Given the description of an element on the screen output the (x, y) to click on. 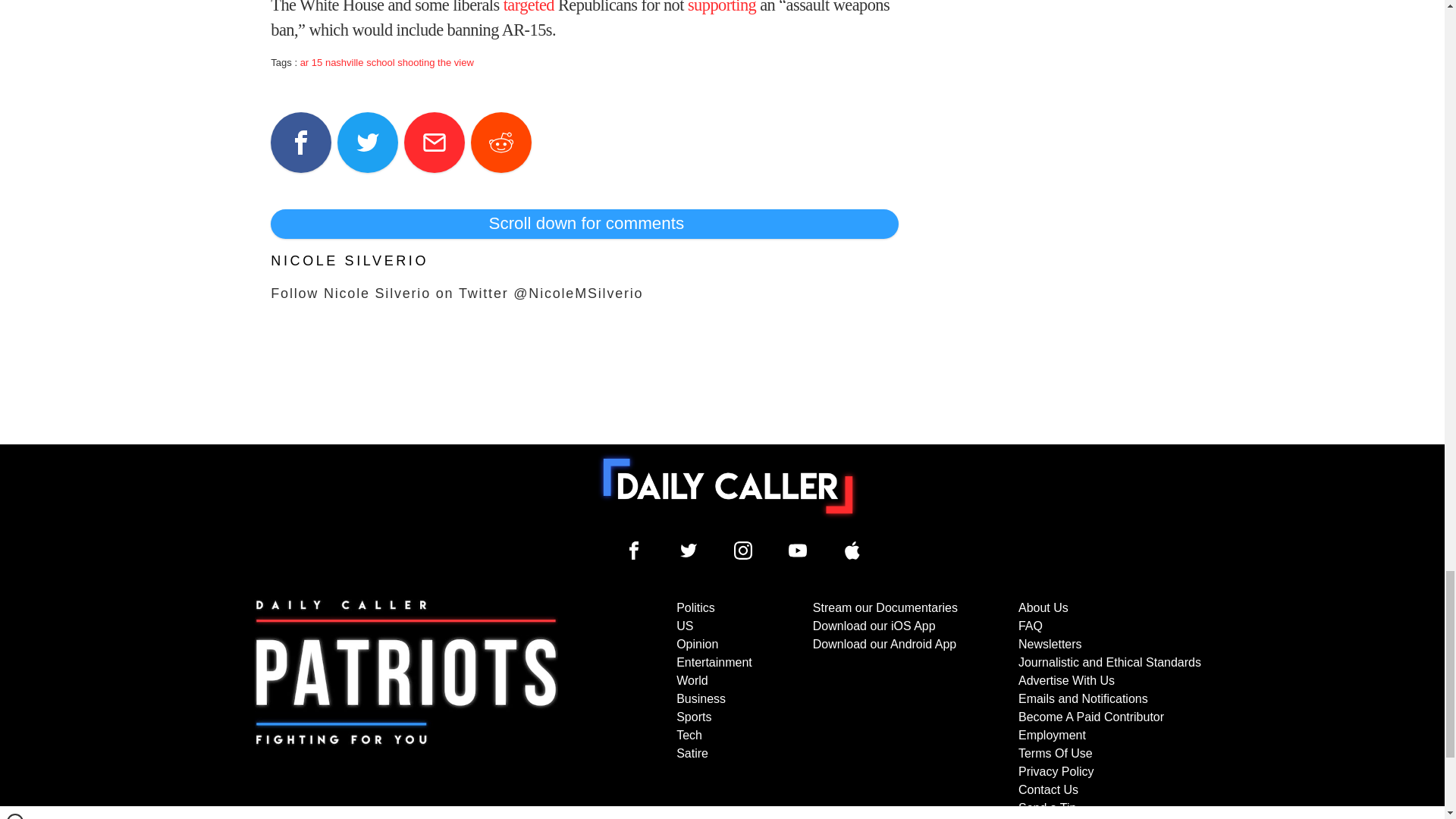
To home page (727, 485)
Subscribe to The Daily Caller (405, 708)
Daily Caller Instagram (742, 550)
Daily Caller YouTube (852, 550)
Daily Caller YouTube (797, 550)
Daily Caller Twitter (688, 550)
Daily Caller Facebook (633, 550)
Scroll down for comments (584, 223)
